Given the description of an element on the screen output the (x, y) to click on. 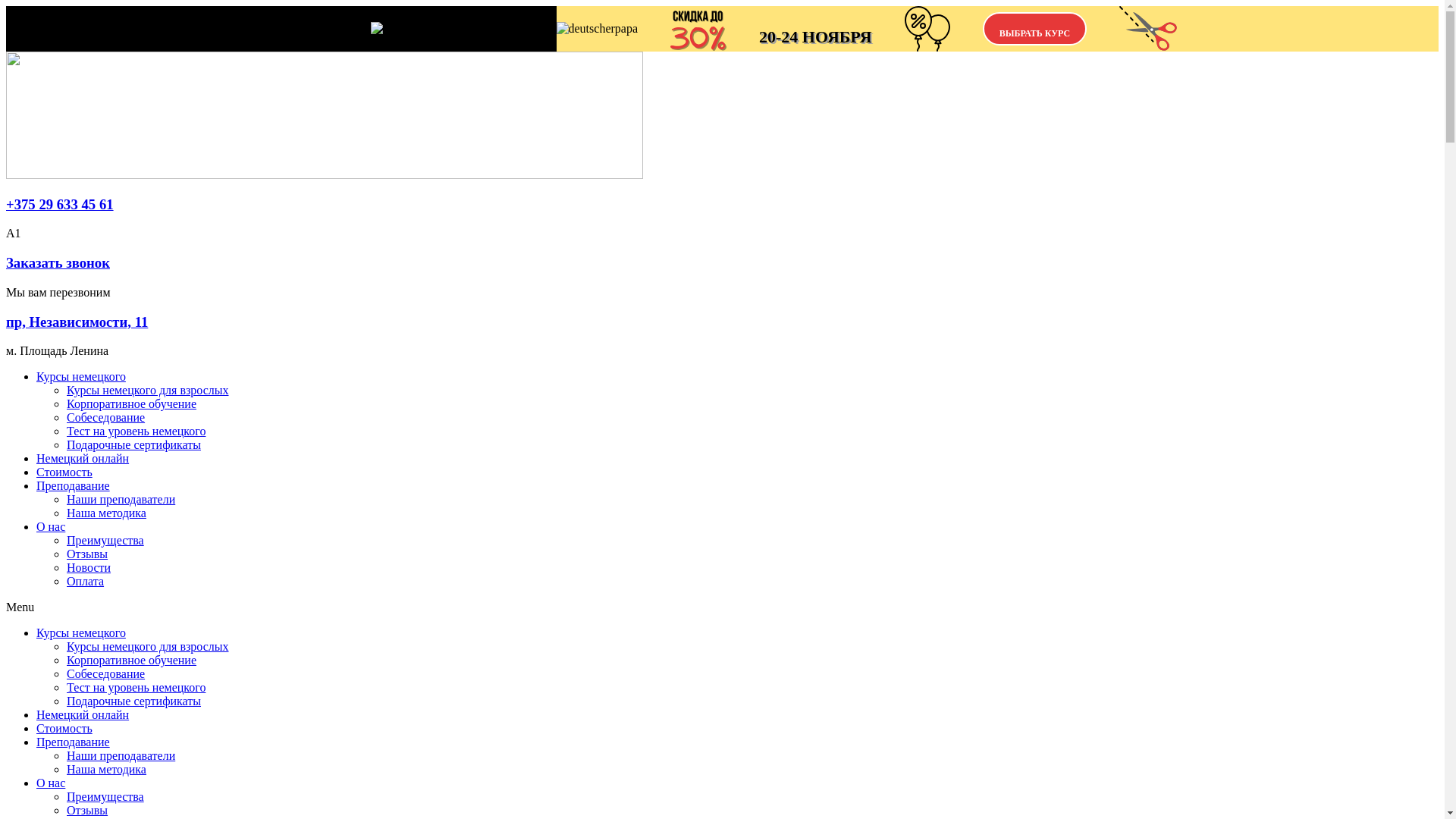
+375 29 633 45 61 Element type: text (59, 204)
